Given the description of an element on the screen output the (x, y) to click on. 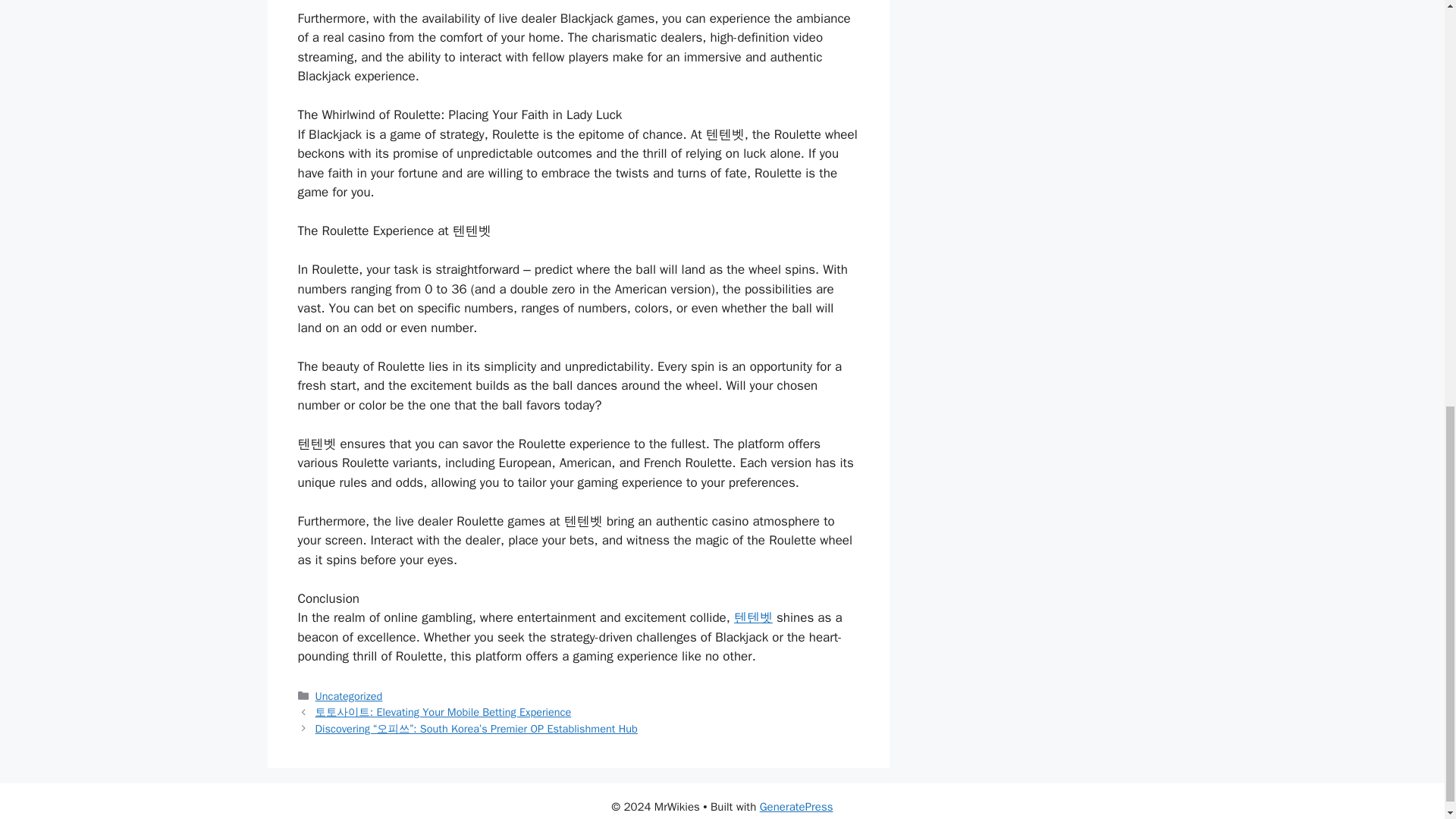
GeneratePress (796, 807)
Uncategorized (348, 695)
